Given the description of an element on the screen output the (x, y) to click on. 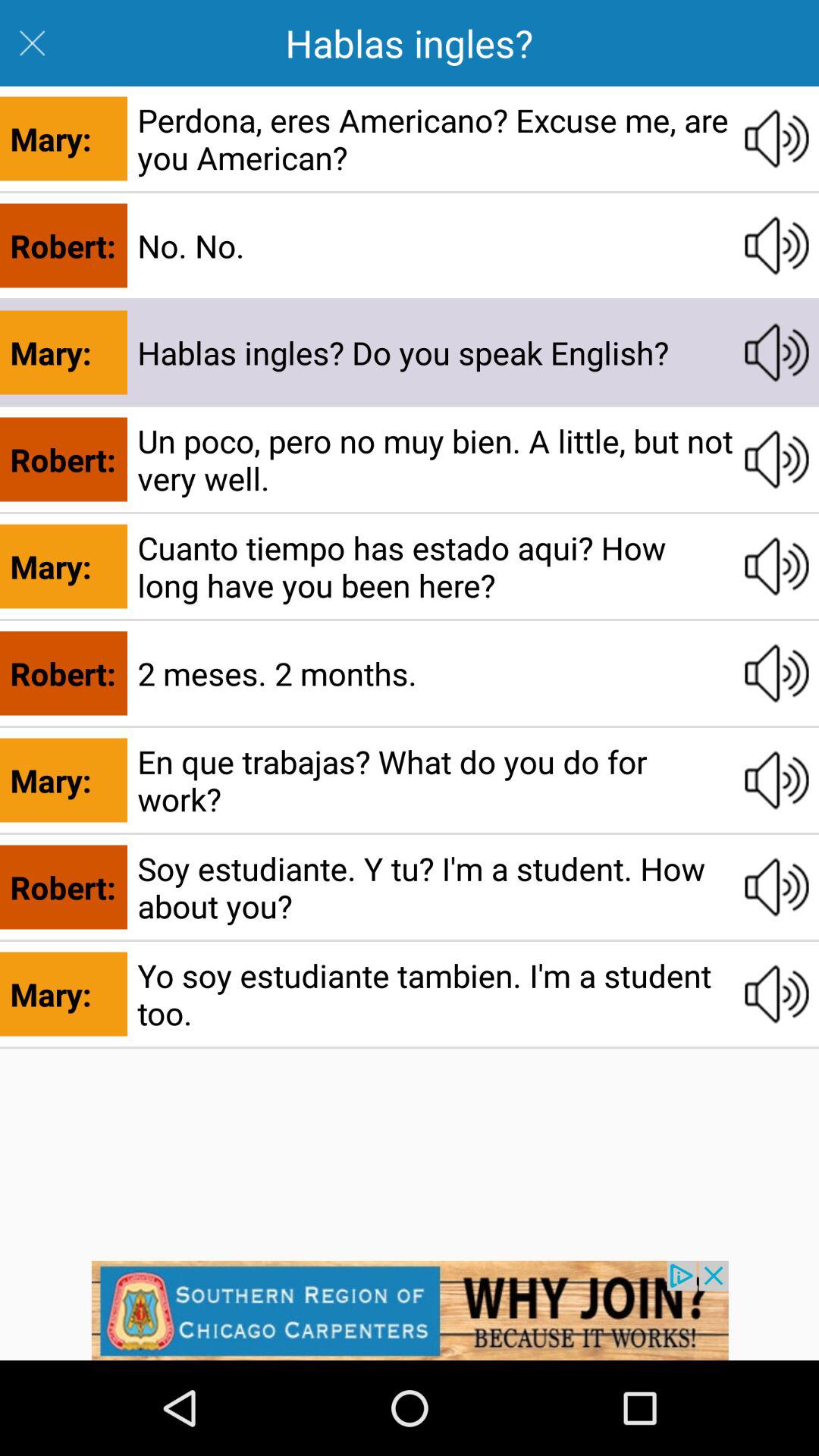
click the add (409, 1310)
